Given the description of an element on the screen output the (x, y) to click on. 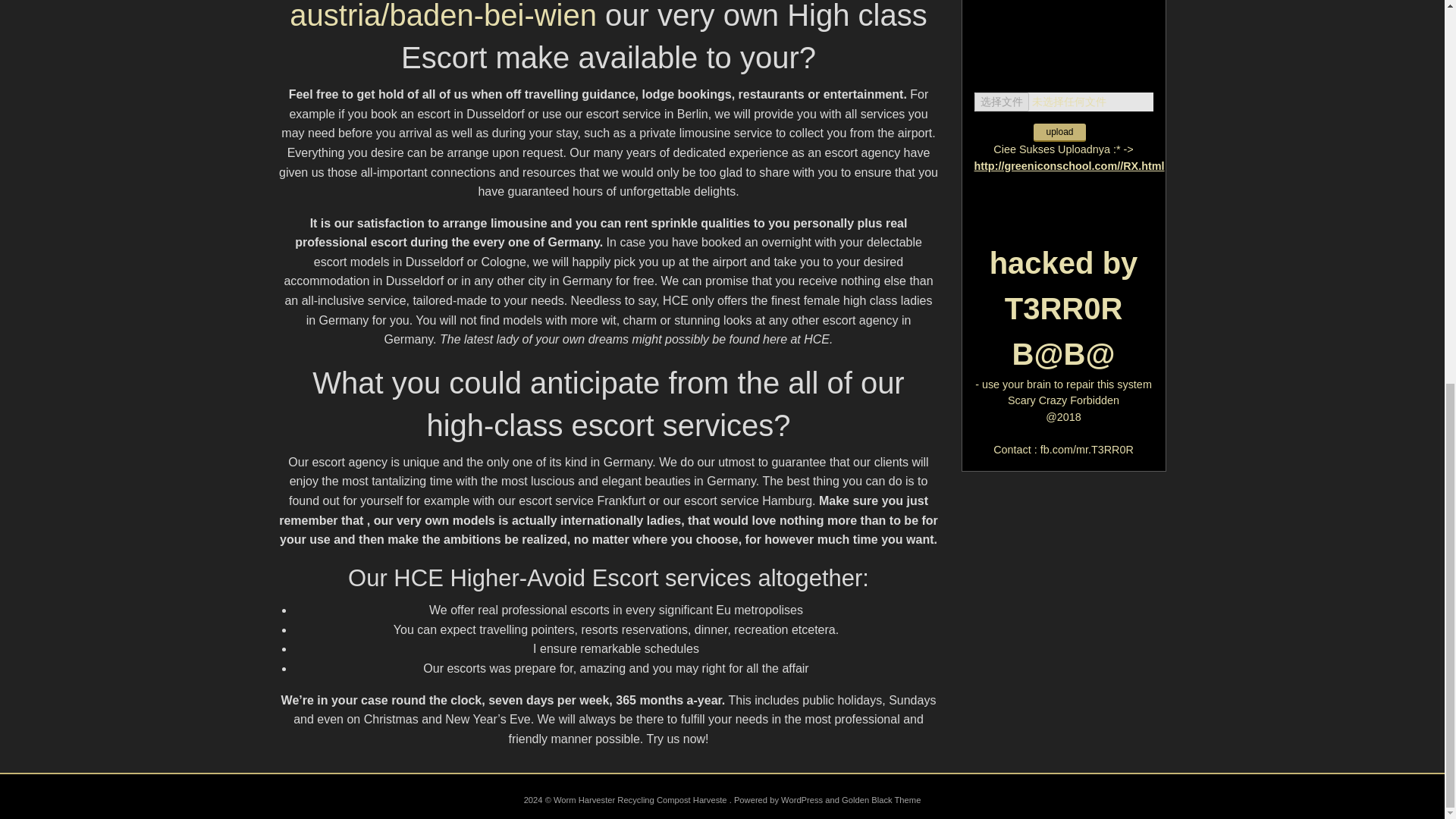
upload (1058, 132)
upload (1058, 132)
Click Here ! (1063, 12)
